Given the description of an element on the screen output the (x, y) to click on. 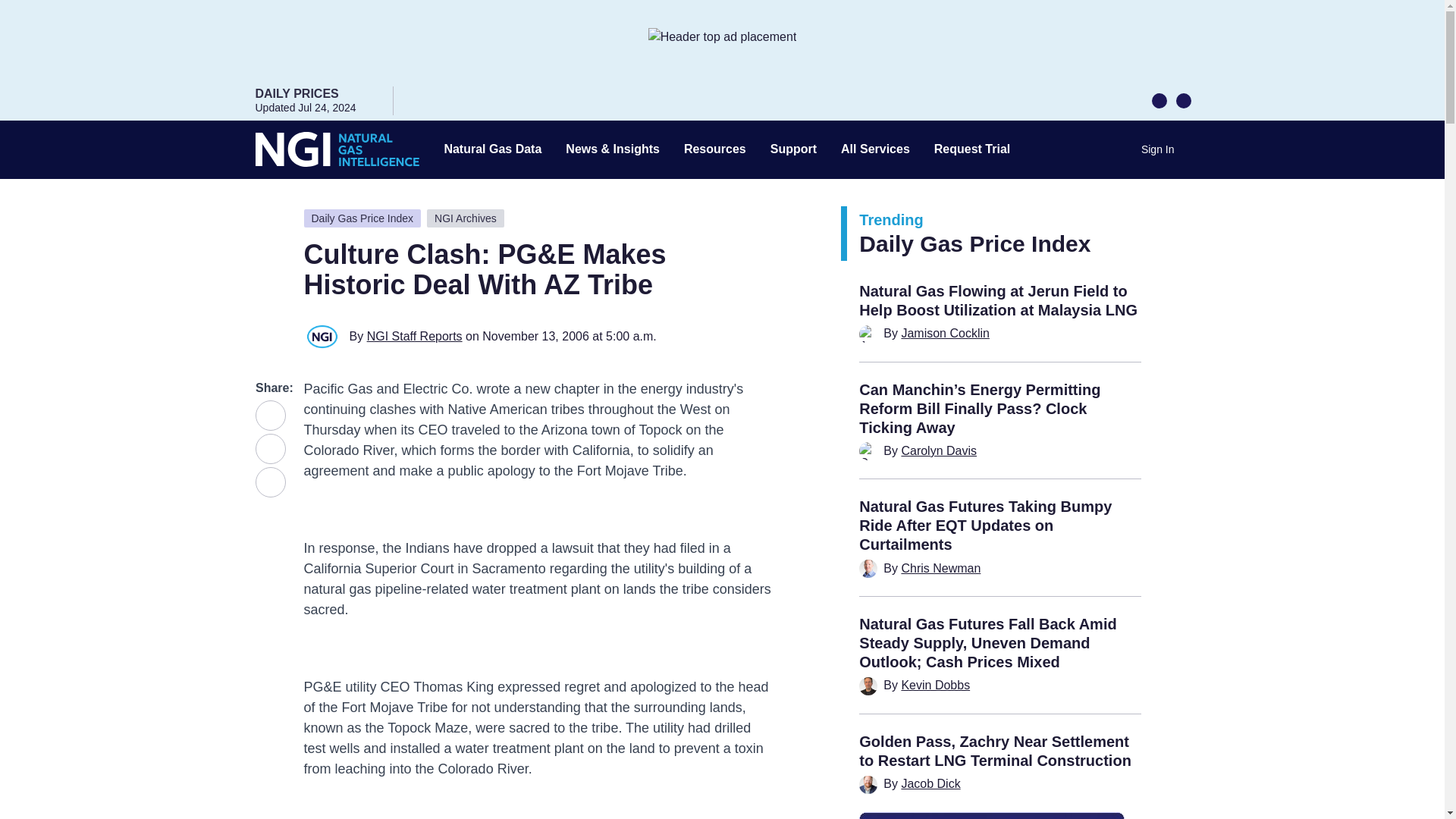
Scroll Right (1182, 99)
Natural Gas Data (492, 149)
Scroll Left (1158, 99)
